Given the description of an element on the screen output the (x, y) to click on. 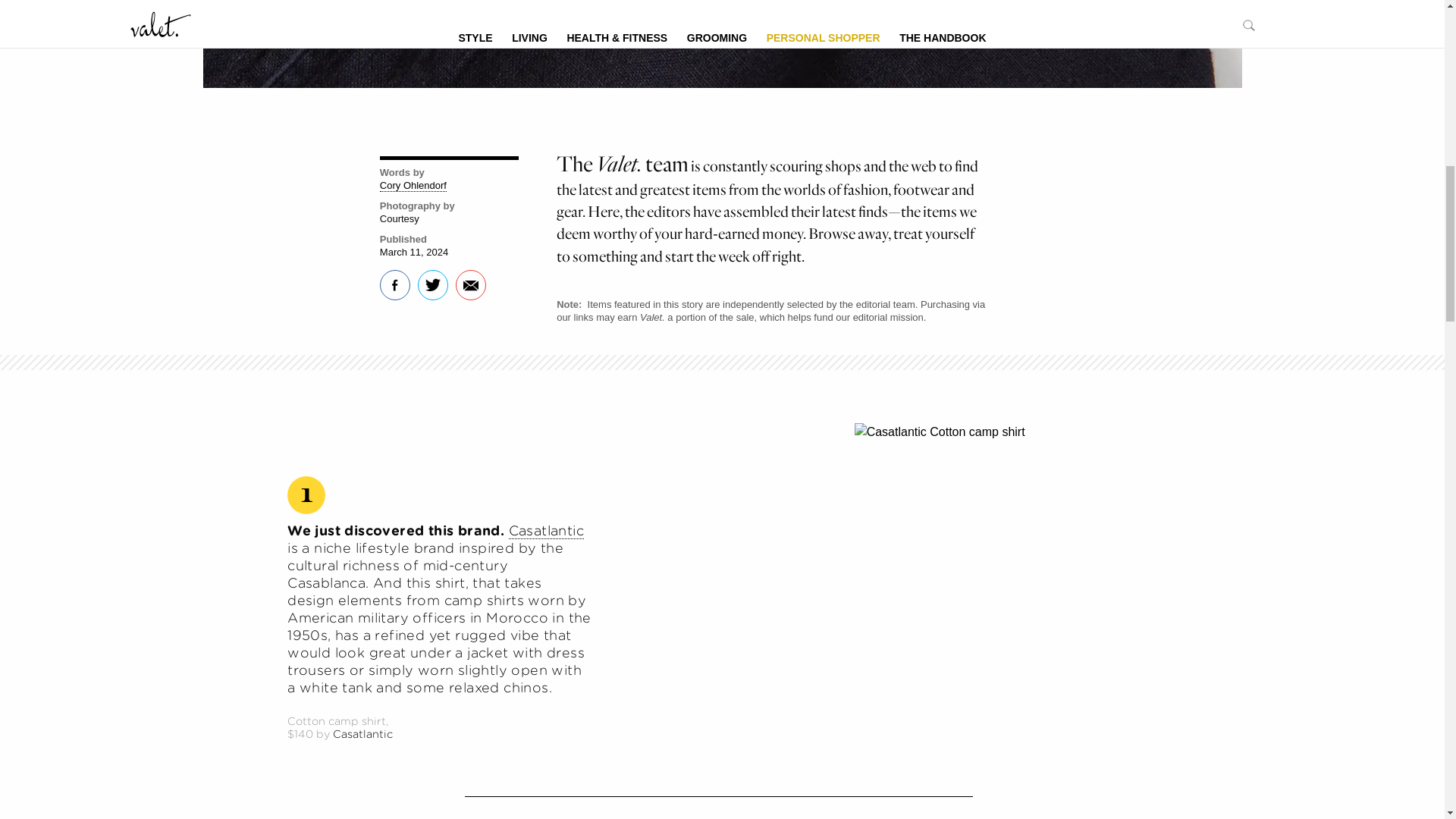
Casatlantic (363, 733)
Casatlantic (545, 530)
Cory Ohlendorf (413, 185)
